Given the description of an element on the screen output the (x, y) to click on. 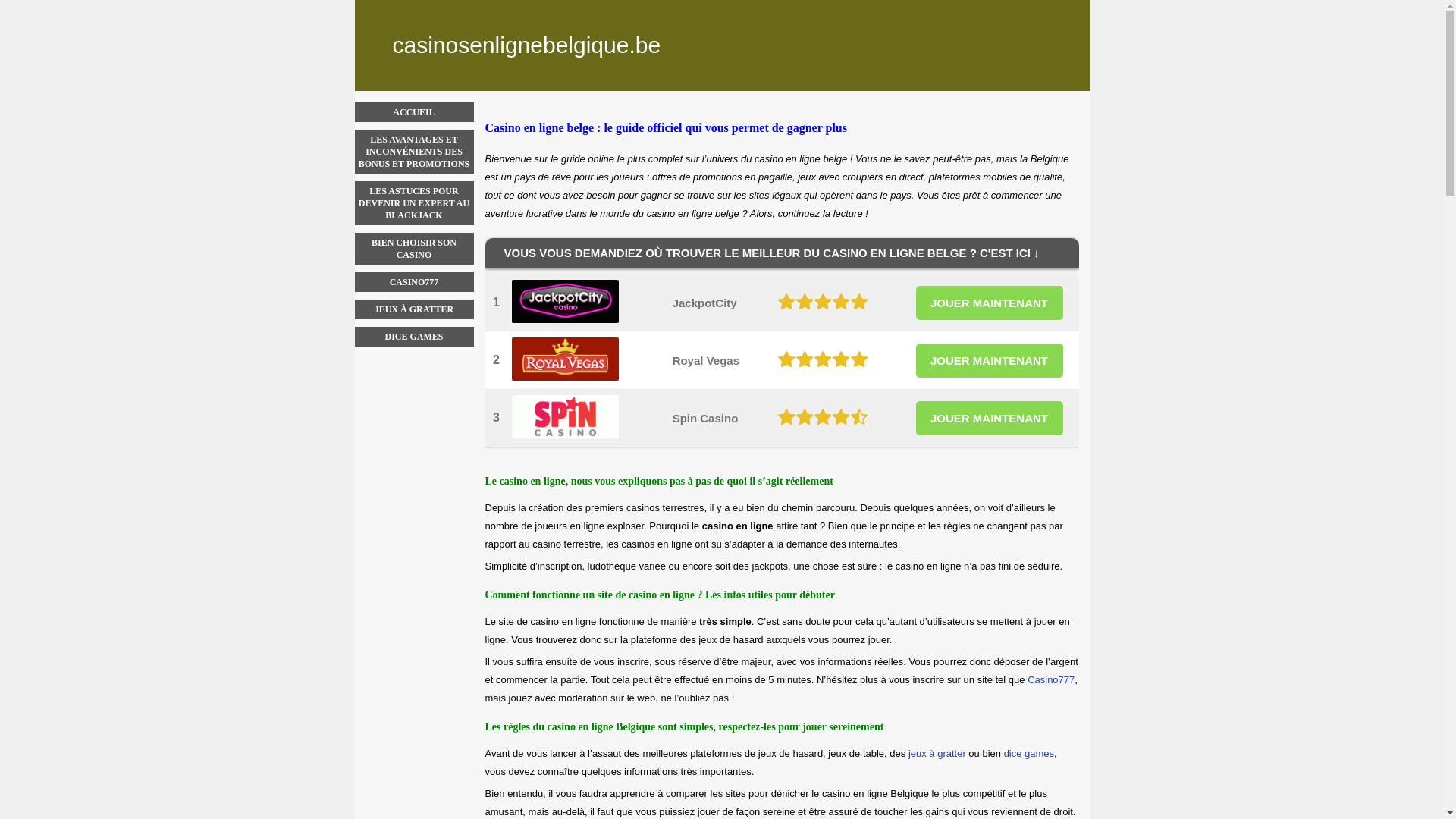
dice games Element type: text (1029, 753)
CASINO777 Element type: text (413, 281)
LES ASTUCES POUR DEVENIR UN EXPERT AU BLACKJACK Element type: text (413, 203)
JOUER MAINTENANT Element type: text (989, 302)
JOUER MAINTENANT Element type: text (989, 359)
Casino777 Element type: text (1050, 679)
DICE GAMES Element type: text (413, 336)
JOUER MAINTENANT Element type: text (989, 417)
BIEN CHOISIR SON CASINO Element type: text (413, 248)
ACCUEIL Element type: text (413, 112)
